Given the description of an element on the screen output the (x, y) to click on. 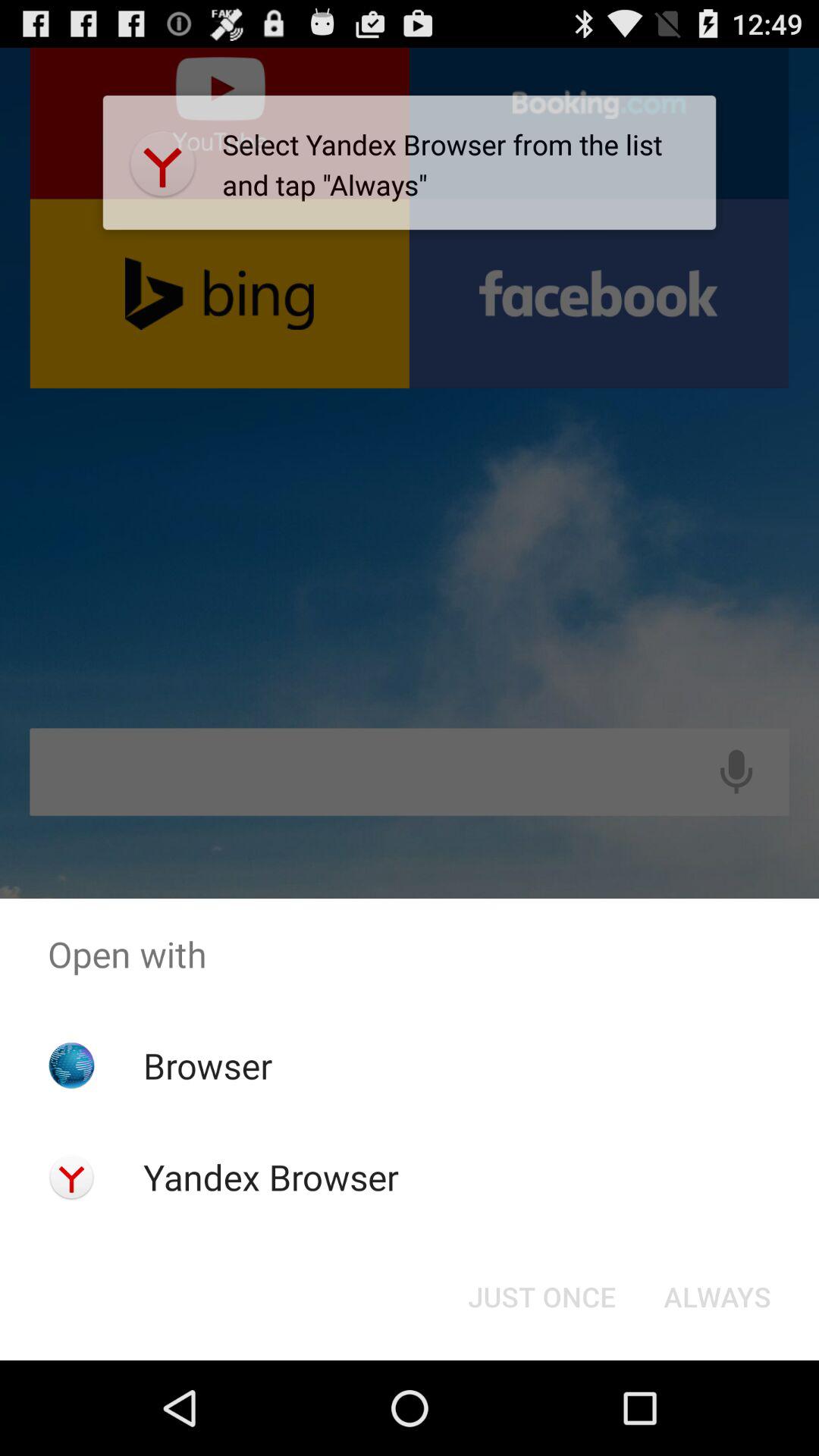
press the item below the open with (541, 1296)
